Given the description of an element on the screen output the (x, y) to click on. 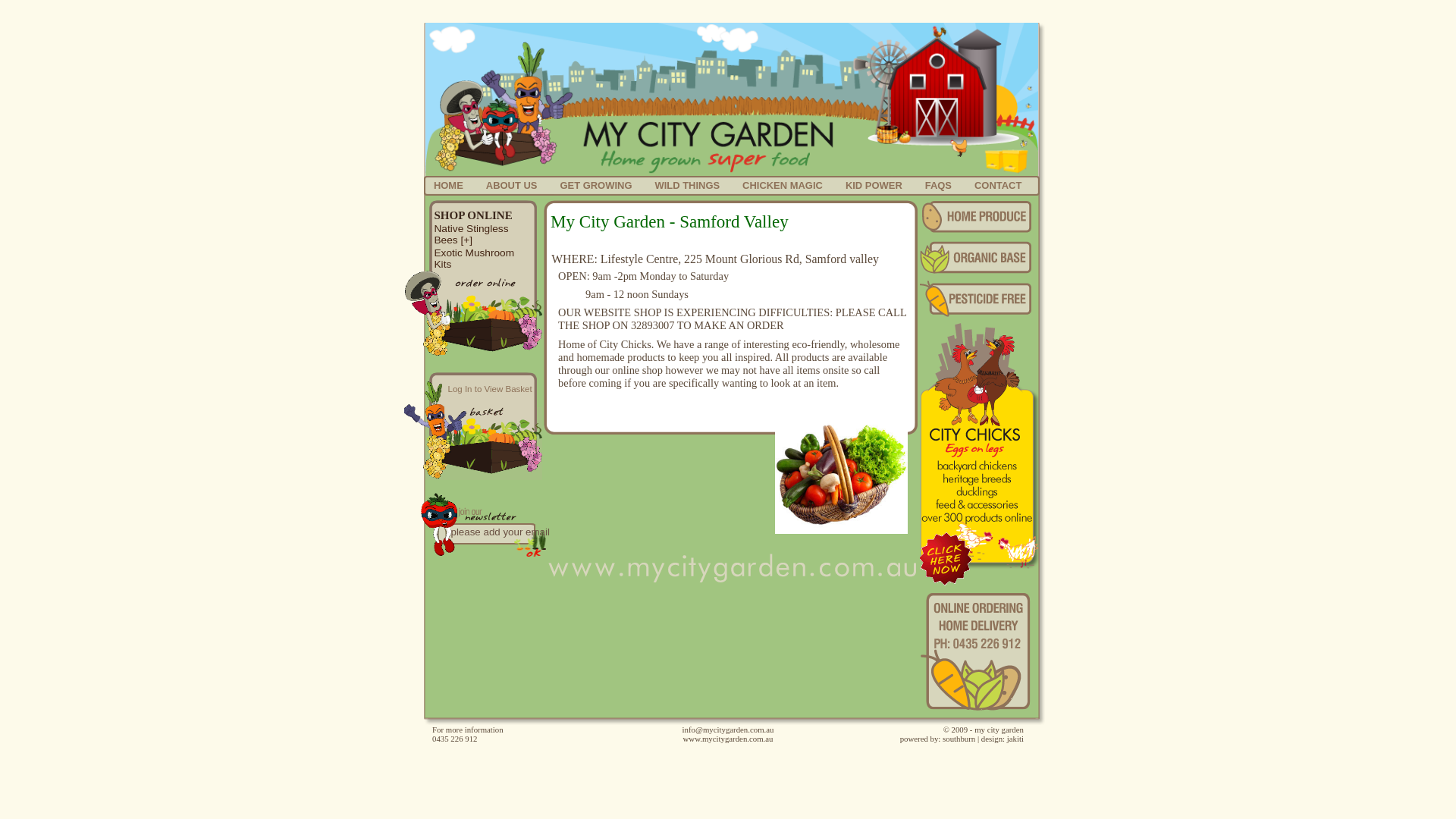
Exotic Mushroom Kits Element type: text (473, 258)
CONTACT Element type: text (997, 185)
FAQS Element type: text (938, 185)
southburn Element type: text (958, 738)
GET GROWING Element type: text (595, 185)
www.mycitygarden.com.au Element type: text (728, 738)
[+] Element type: text (466, 239)
info@mycitygarden.com.au Element type: text (728, 729)
Native Stingless Bees Element type: text (470, 233)
Log In to View Basket Element type: text (489, 388)
WILD THINGS Element type: text (687, 185)
City Chicks - eggs on legs Element type: hover (944, 558)
KID POWER Element type: text (873, 185)
jakiti Element type: text (1015, 738)
ABOUT US Element type: text (511, 185)
my city garden Element type: text (998, 729)
CHICKEN MAGIC Element type: text (782, 185)
HOME Element type: text (448, 185)
